Given the description of an element on the screen output the (x, y) to click on. 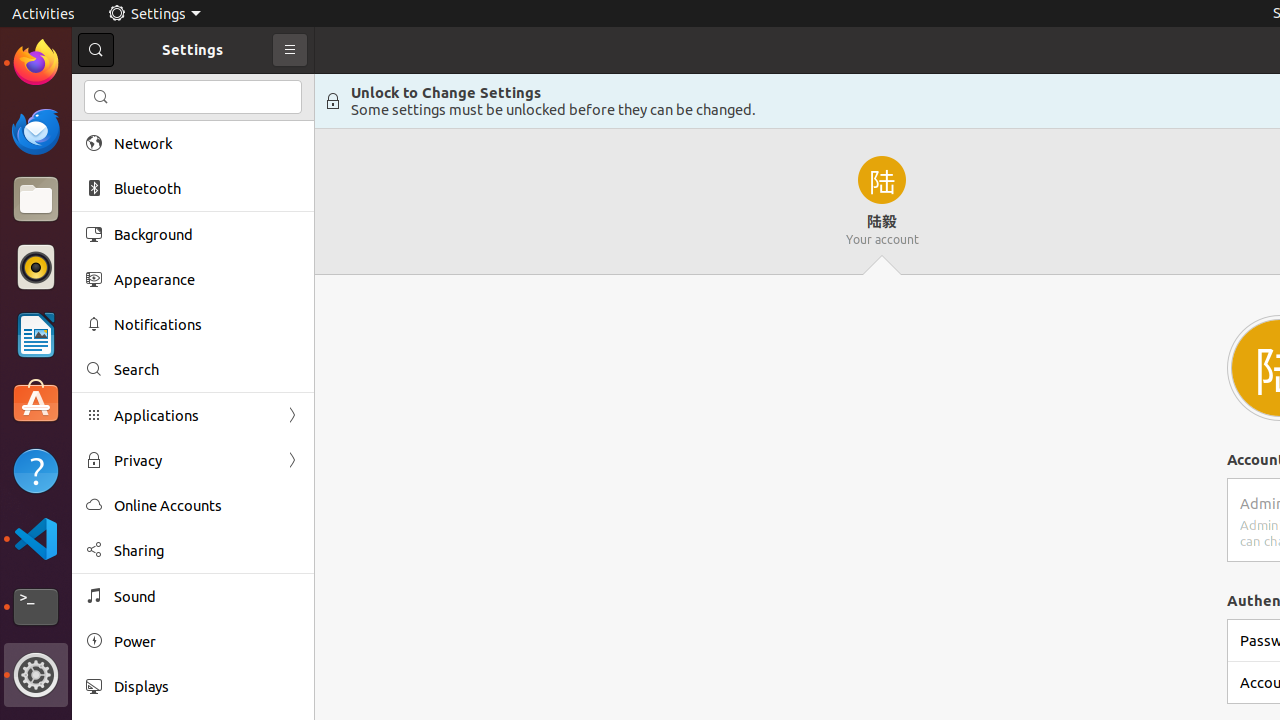
Displays Element type: label (207, 686)
